Given the description of an element on the screen output the (x, y) to click on. 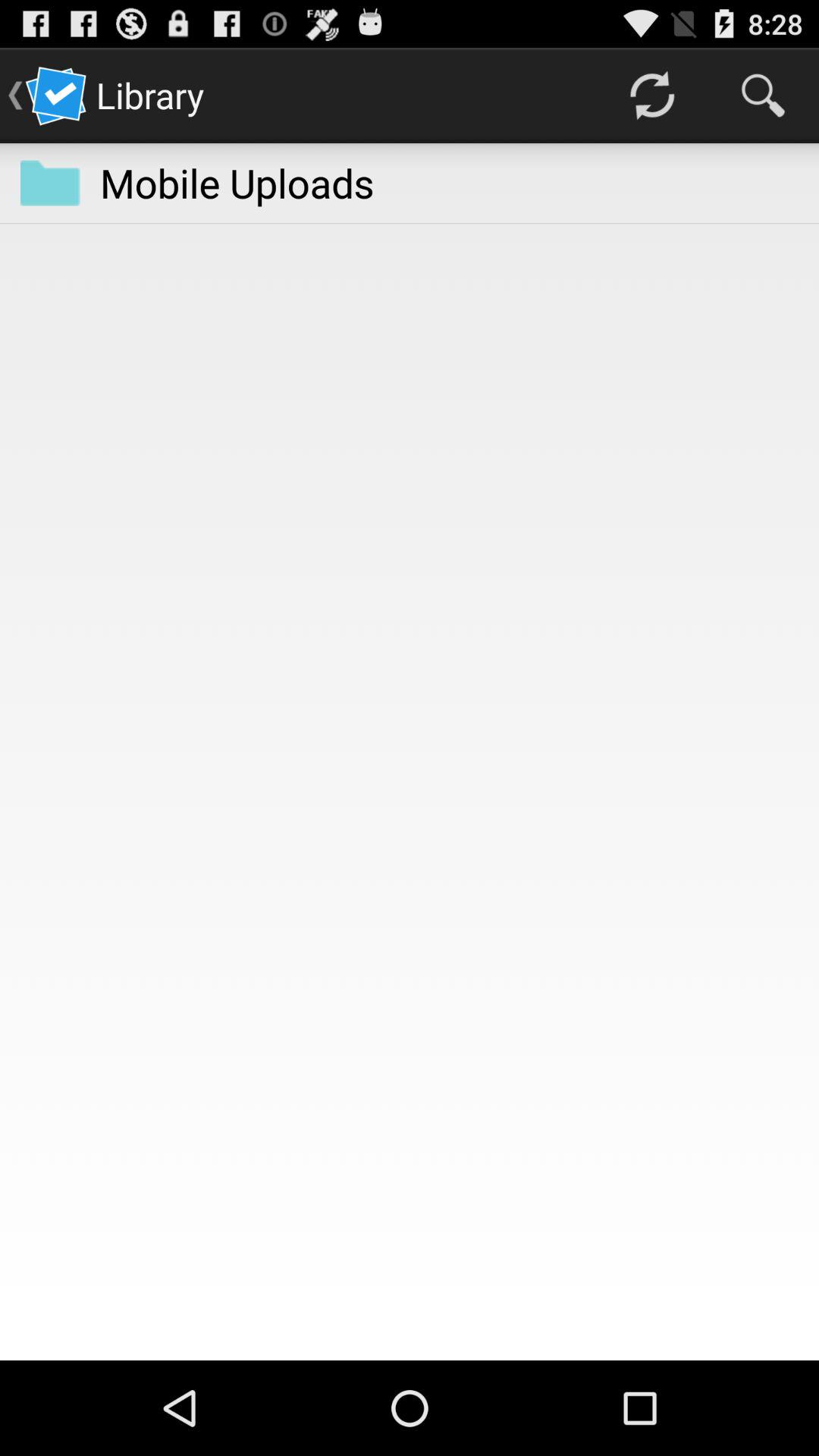
select the app below library (237, 182)
